Given the description of an element on the screen output the (x, y) to click on. 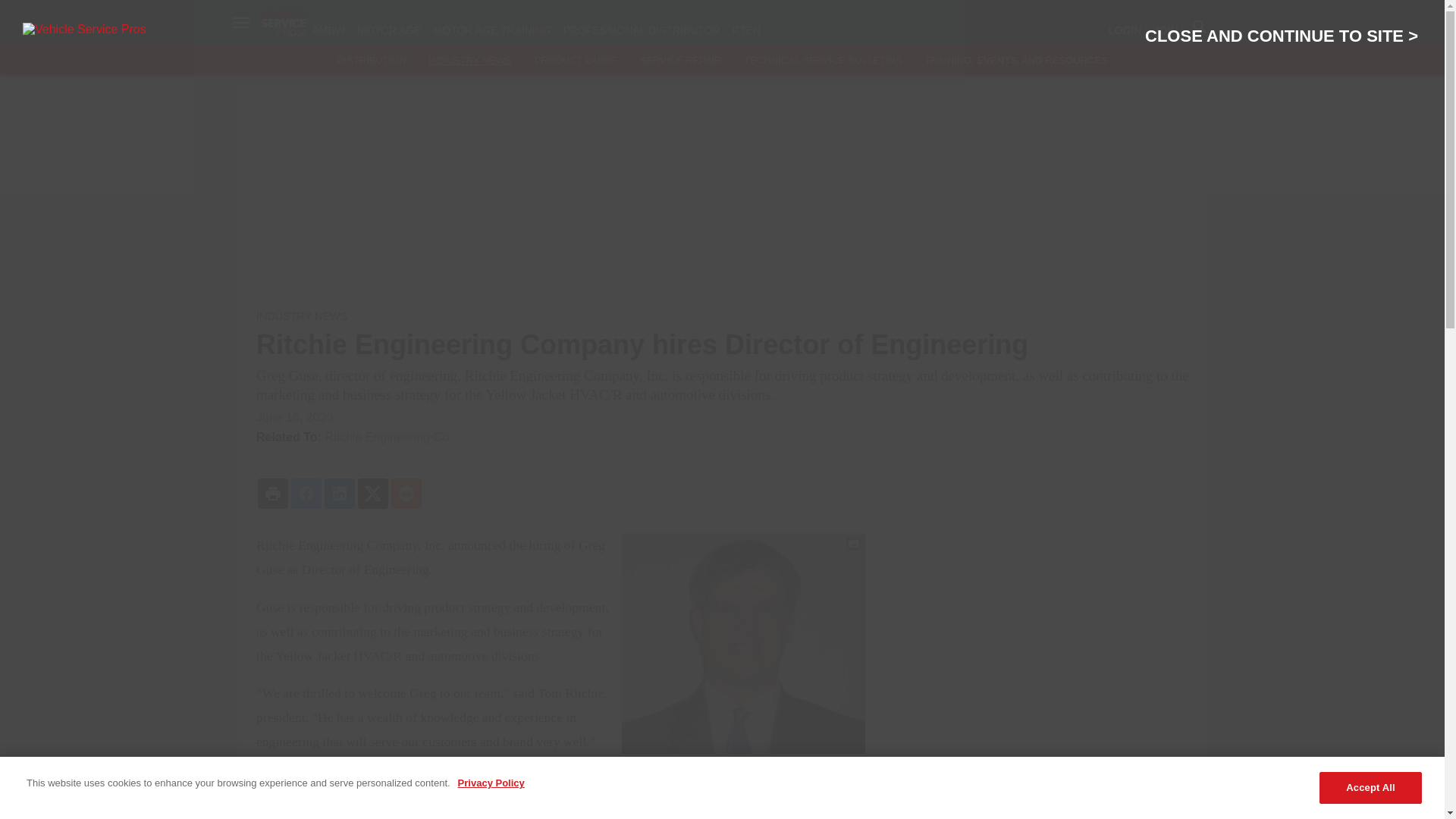
PROFESSIONAL DISTRIBUTOR (641, 30)
INDUSTRY NEWS (470, 60)
MOTOR AGE TRAINING (492, 30)
TRAINING, EVENTS, AND RESOURCES (1015, 60)
TECHNICAL SERVICE BULLETINS (822, 60)
MOTOR AGE (389, 30)
SERVICE REPAIR (679, 60)
LOGIN (1124, 30)
JOIN (1165, 30)
PTEN (746, 30)
AMBW (329, 30)
DISTRIBUTION (371, 60)
